Given the description of an element on the screen output the (x, y) to click on. 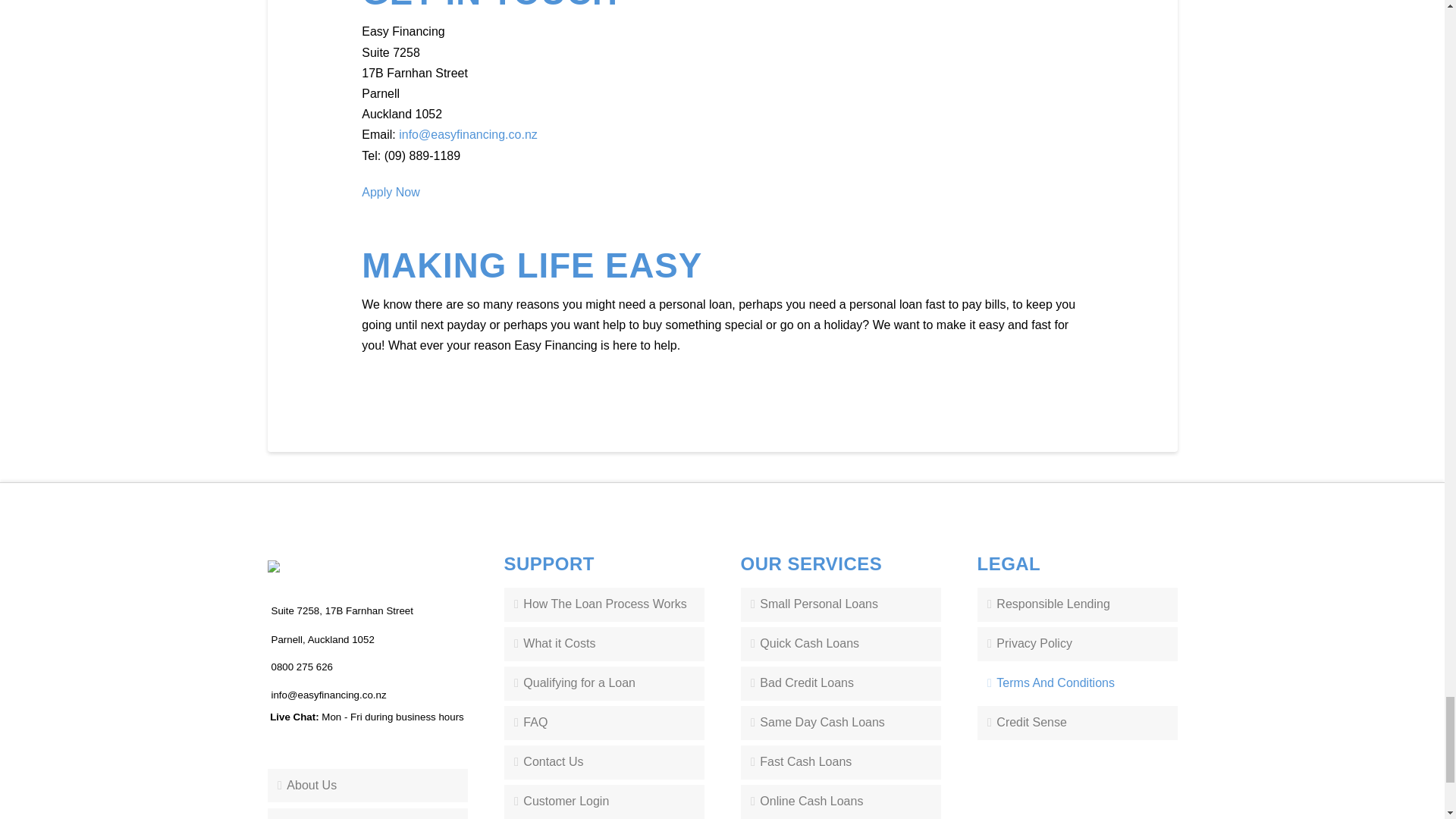
Responsible Lending (1076, 604)
Blog (366, 813)
Bad Credit Loans (839, 683)
Fast Cash Loans (839, 762)
How The Loan Process Works (603, 604)
Apply Now (390, 192)
Quick Cash Loans (839, 643)
Contact Us (603, 762)
FAQ (603, 722)
0800 275 626 (301, 666)
